Given the description of an element on the screen output the (x, y) to click on. 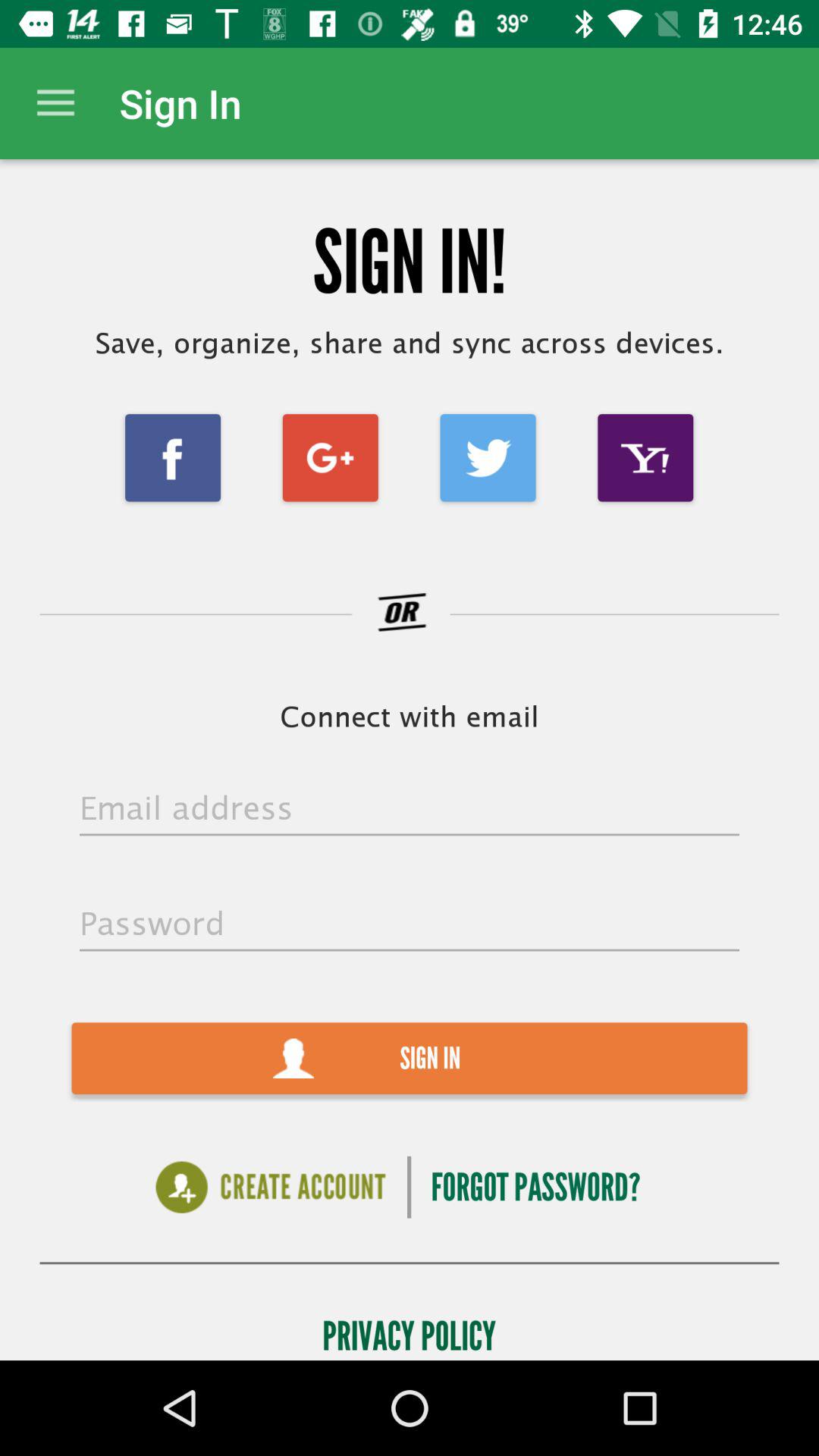
click on the google plus icon (329, 457)
click on facebook logo (173, 457)
click on green color text privacy policy (408, 1331)
